Given the description of an element on the screen output the (x, y) to click on. 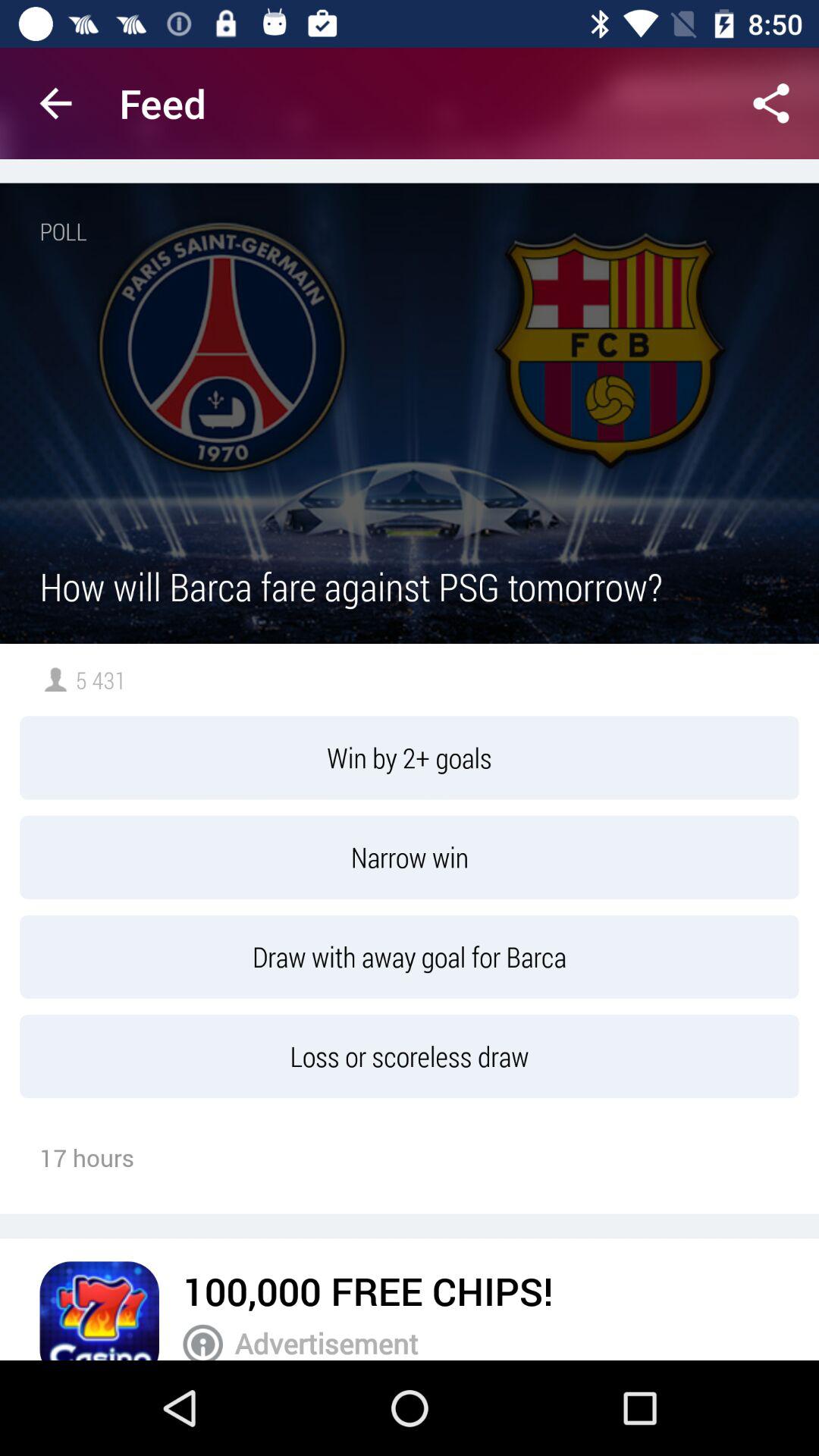
share this poll (771, 103)
